Given the description of an element on the screen output the (x, y) to click on. 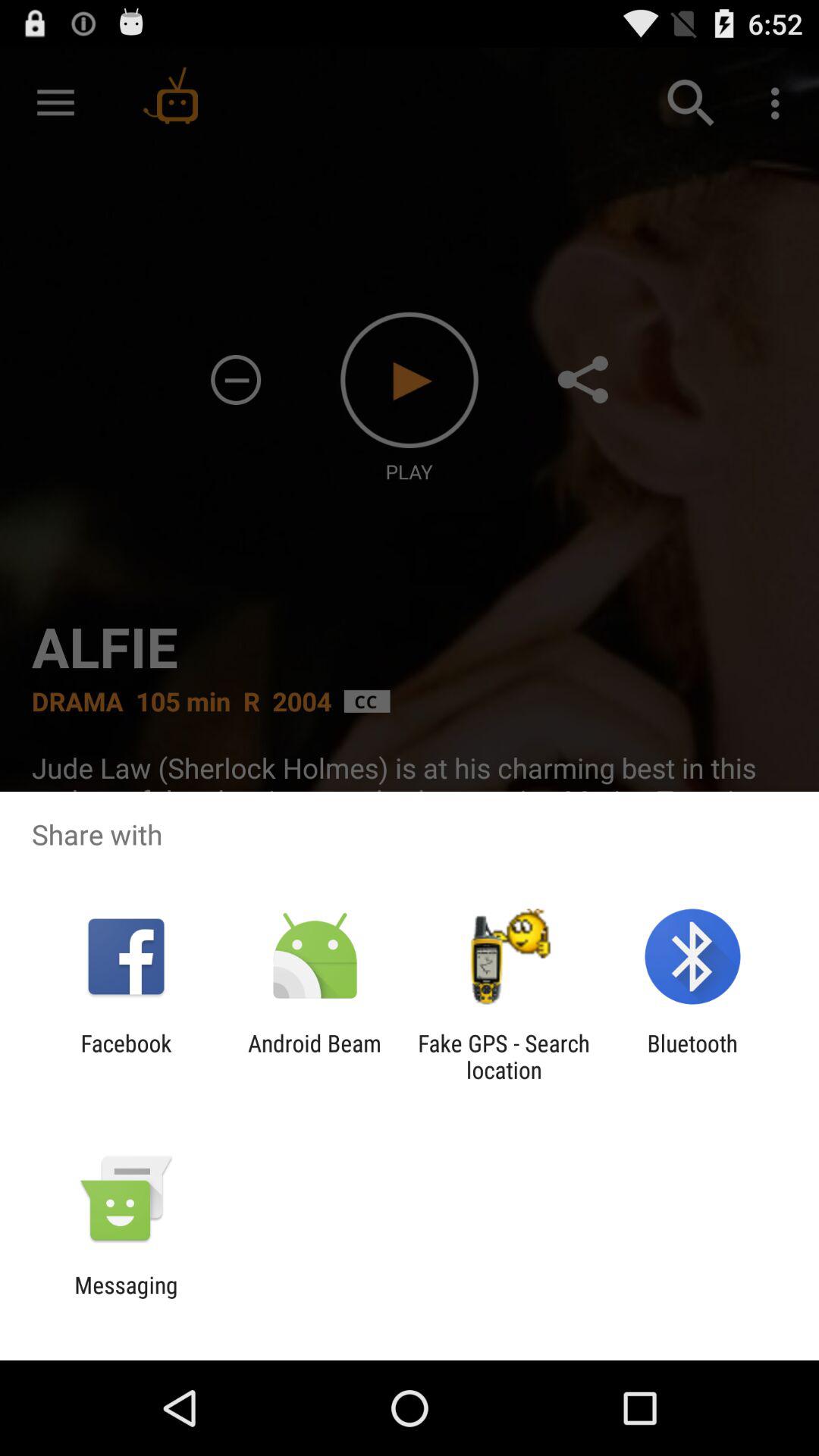
choose fake gps search icon (503, 1056)
